Given the description of an element on the screen output the (x, y) to click on. 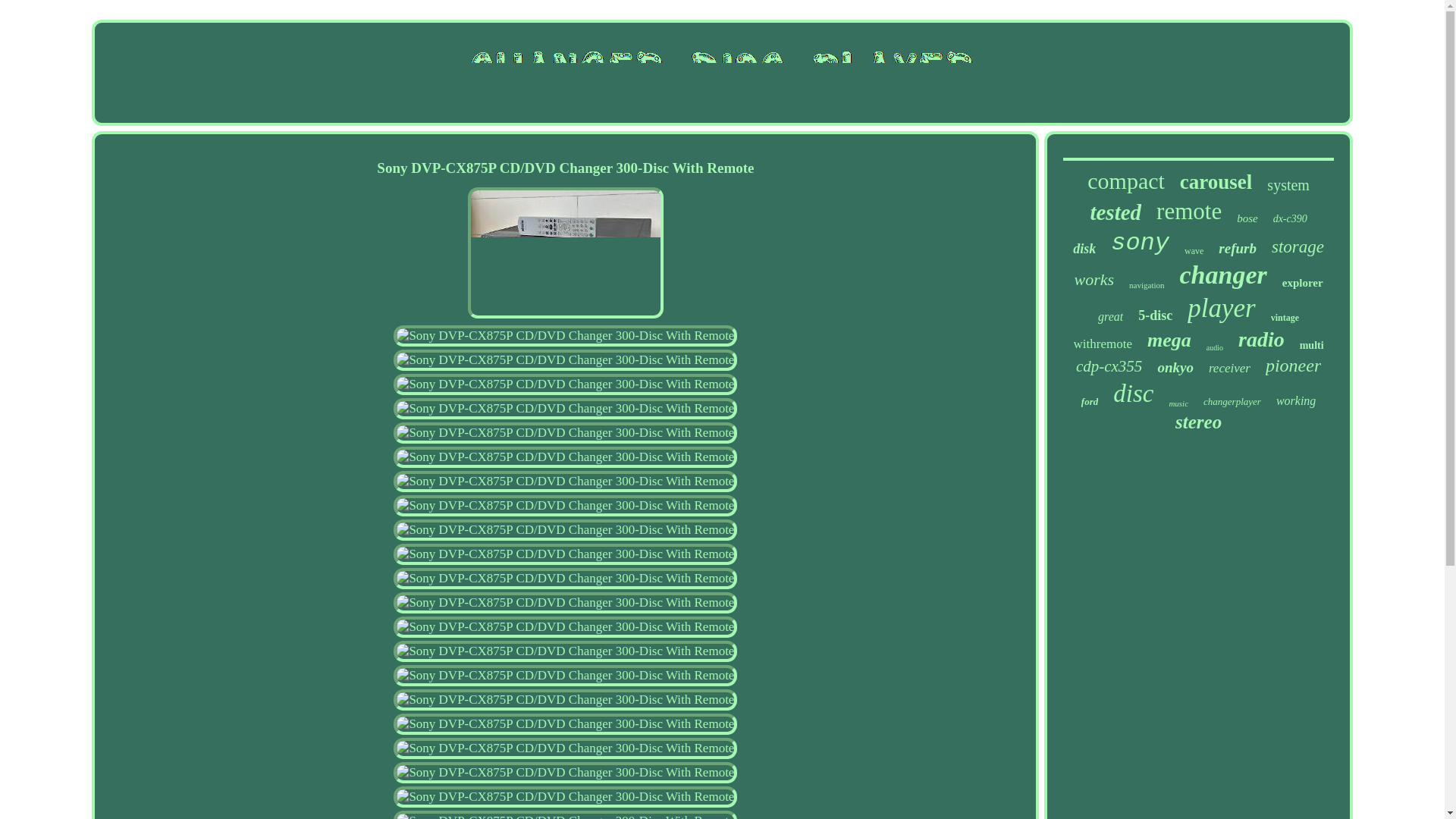
works (1094, 279)
disk (1084, 248)
audio (1215, 347)
5-disc (1155, 315)
wave (1194, 251)
mega (1169, 340)
remote (1188, 211)
player (1221, 308)
system (1287, 185)
storage (1297, 247)
